Given the description of an element on the screen output the (x, y) to click on. 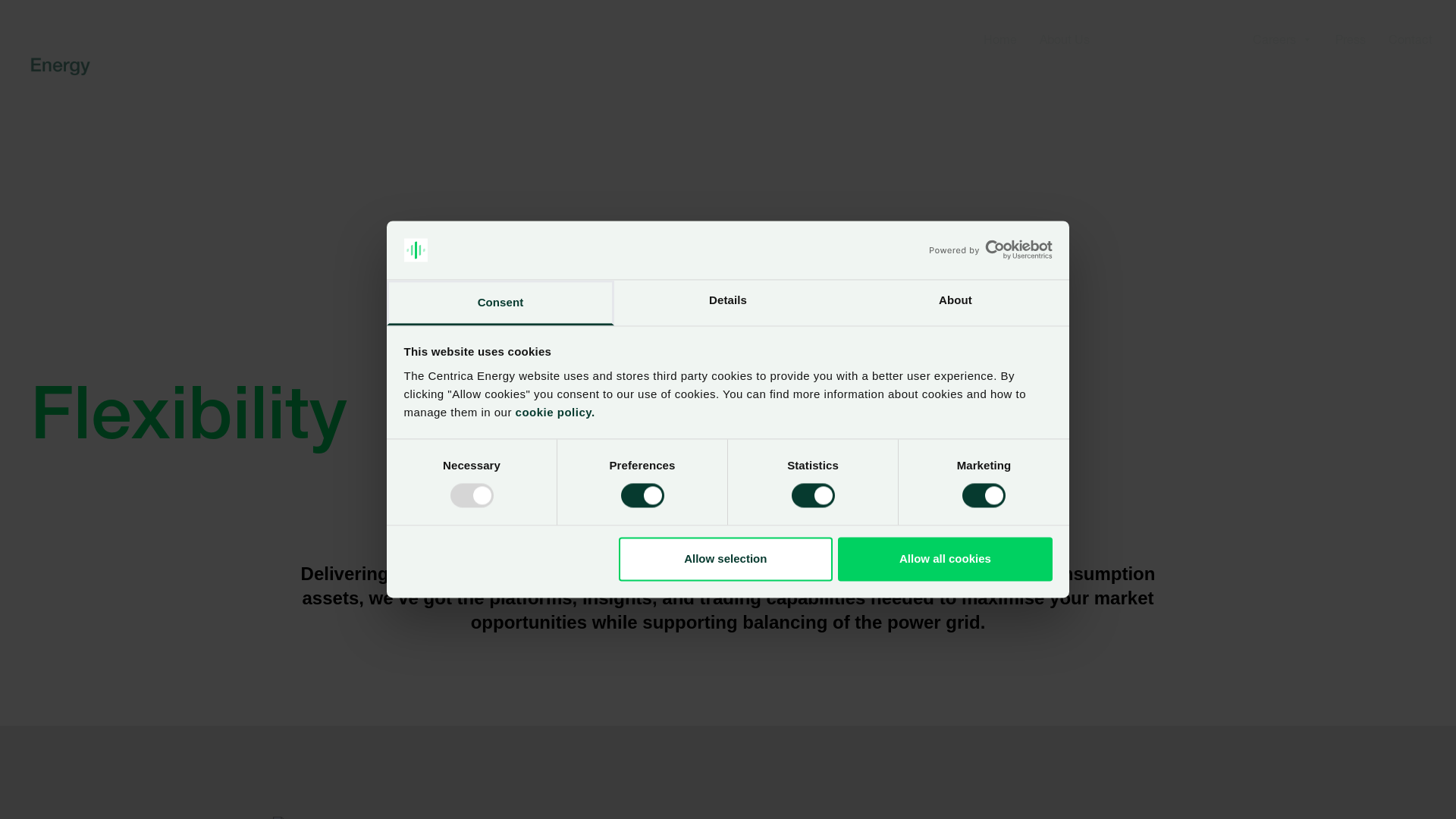
About Us Element type: text (1064, 39)
Allow all cookies Element type: text (944, 558)
Home Element type: text (999, 39)
About Element type: text (955, 302)
cookie policy. Element type: text (553, 411)
Allow selection Element type: text (725, 558)
Careers Element type: text (1282, 39)
Consent Element type: text (500, 302)
Contact Element type: text (1410, 39)
Details Element type: text (727, 302)
Trading & Services Element type: text (1170, 39)
Press Element type: text (1350, 39)
